Given the description of an element on the screen output the (x, y) to click on. 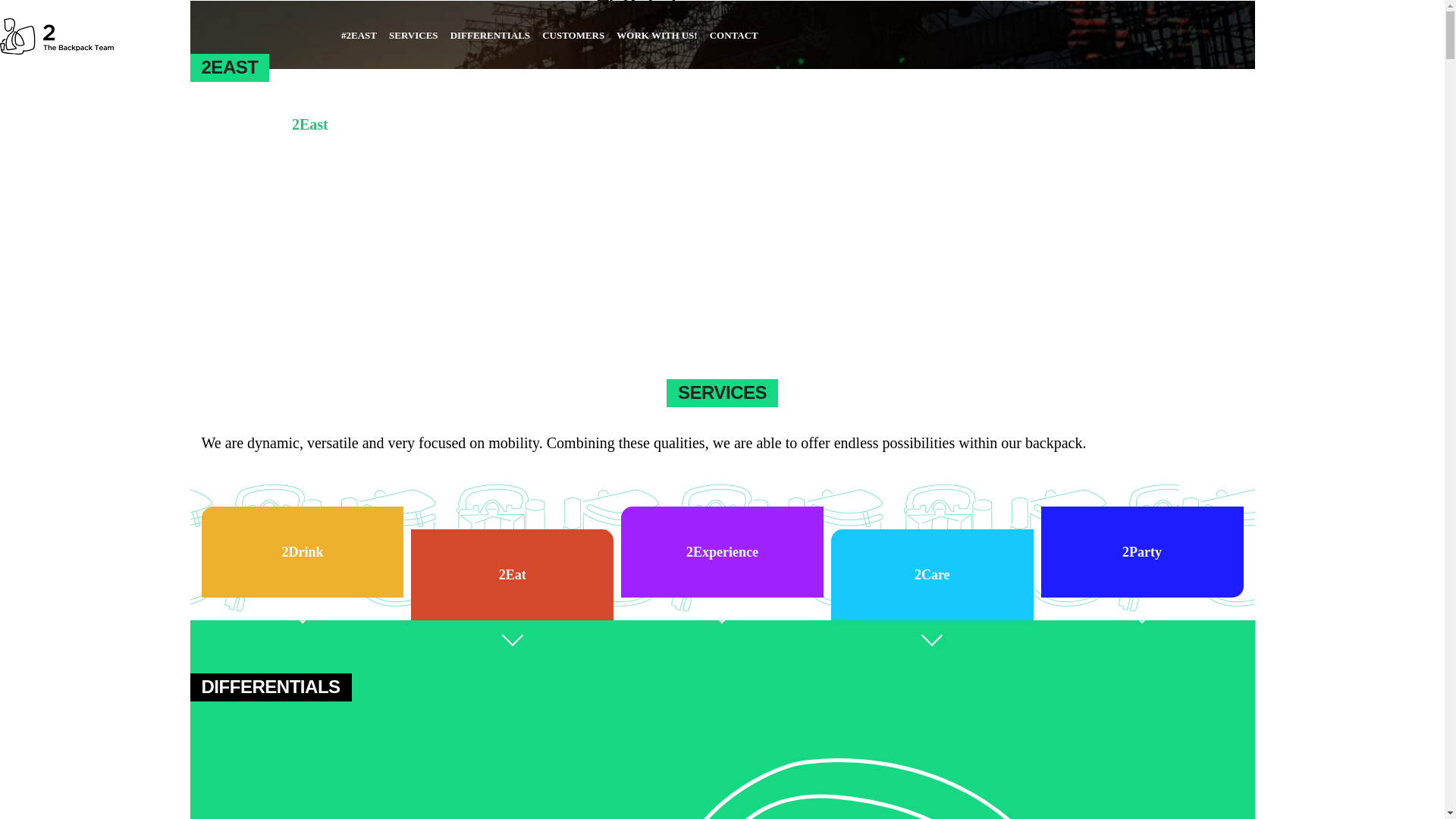
#2EAST Element type: text (358, 35)
Item do menu Element type: text (868, 38)
Item do menu Element type: text (853, 38)
Item do menu Element type: text (861, 38)
CUSTOMERS Element type: text (573, 35)
DIFFERENTIALS Element type: text (490, 35)
WORK WITH US! Element type: text (656, 35)
SERVICES Element type: text (413, 35)
CONTACT Element type: text (733, 35)
